Given the description of an element on the screen output the (x, y) to click on. 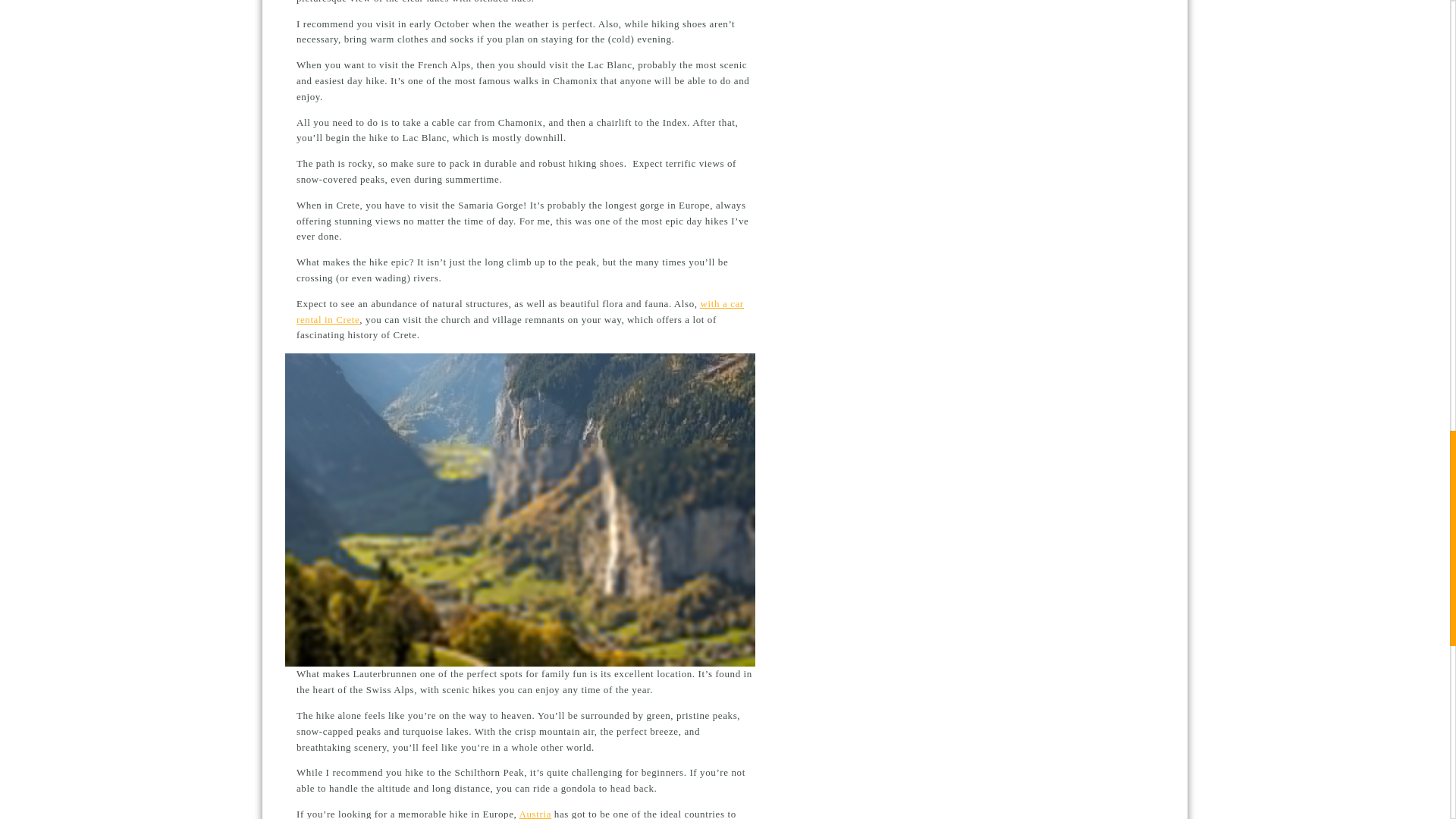
with a car rental in Crete (520, 311)
Austria (535, 813)
